Given the description of an element on the screen output the (x, y) to click on. 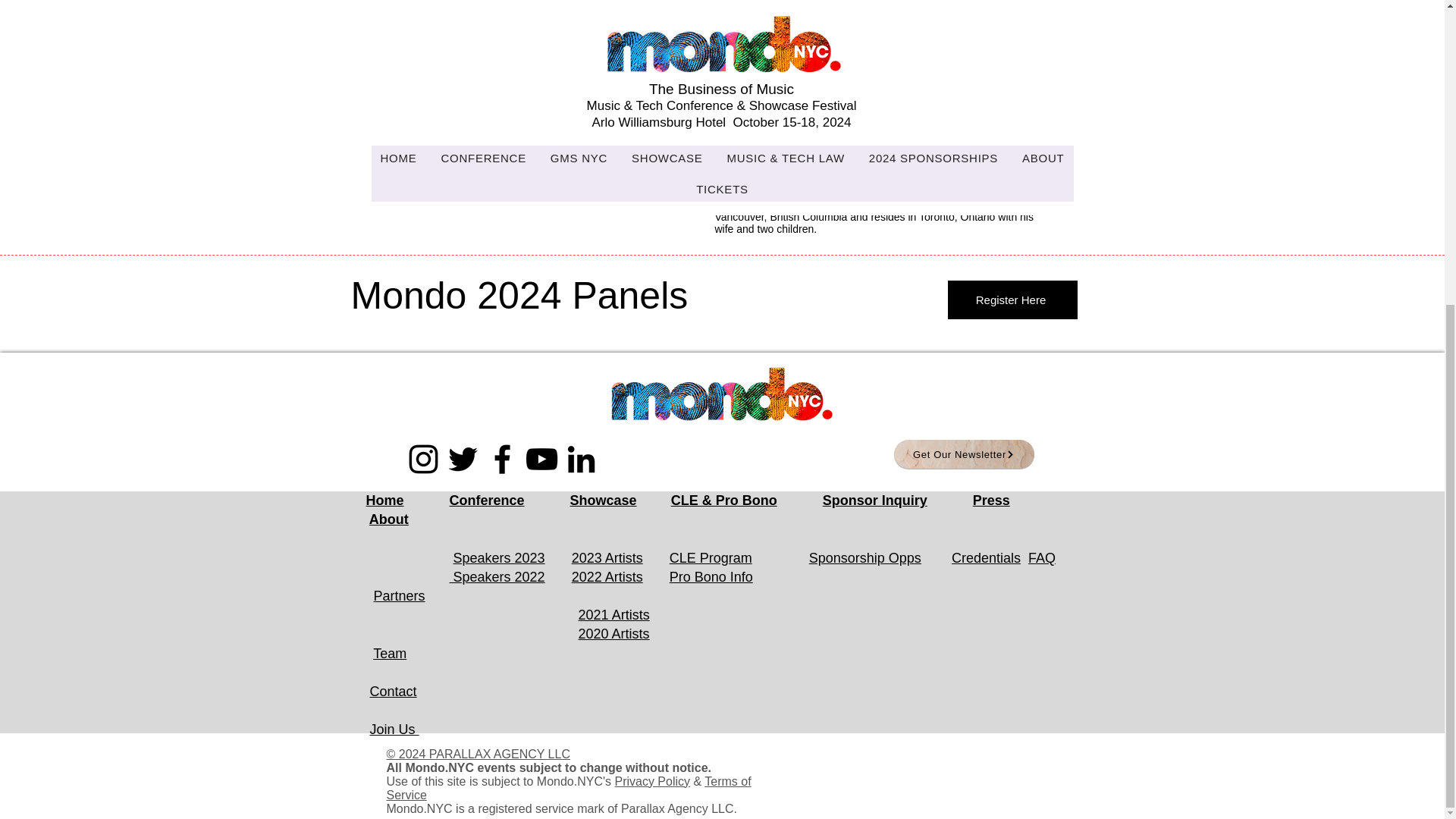
Register Here (1012, 299)
Link (624, 163)
Mondo Speakers 2024 (457, 163)
Morgan Hayduk.jpg (541, 58)
